Given the description of an element on the screen output the (x, y) to click on. 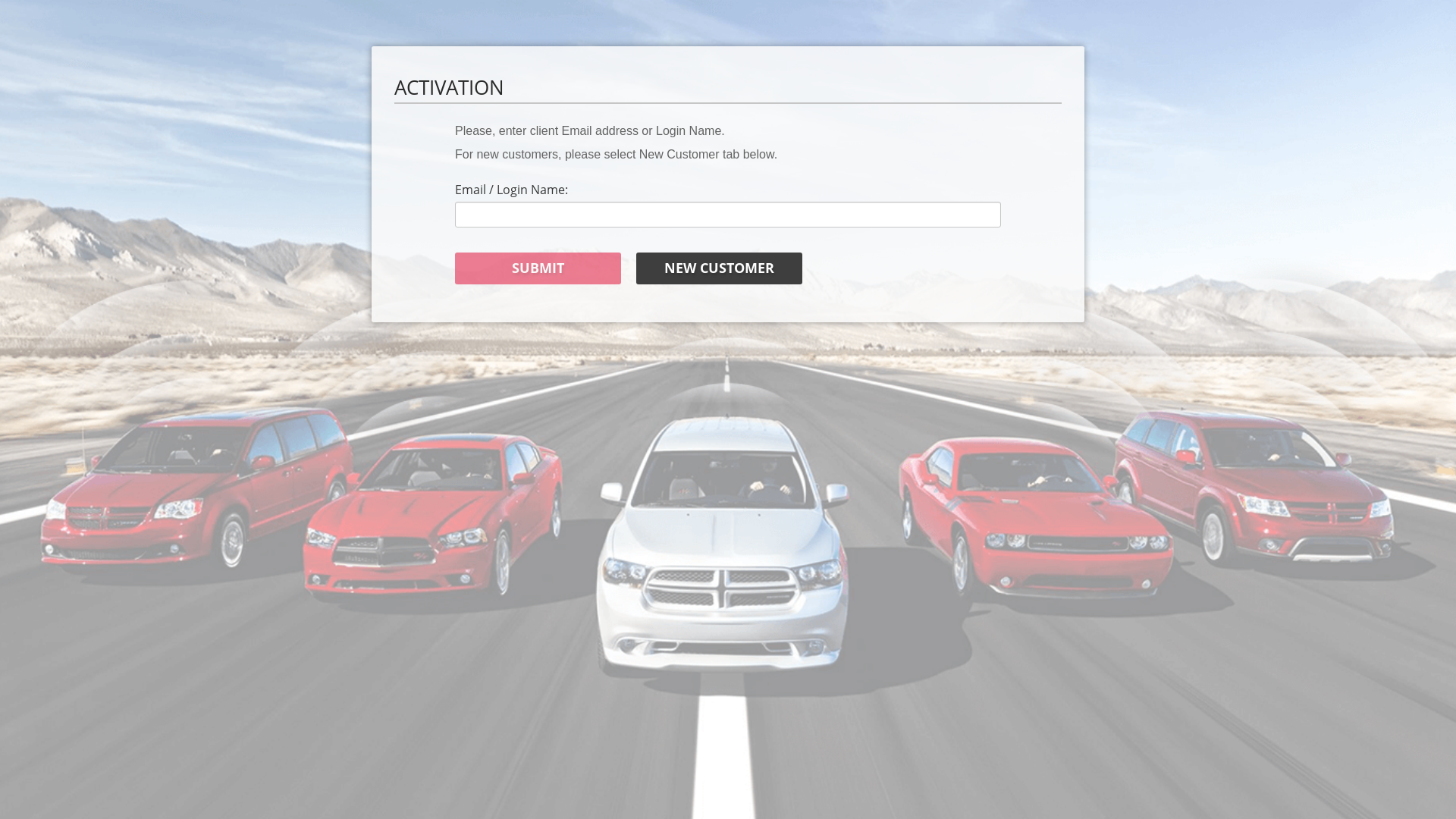
SUBMIT Element type: text (538, 268)
NEW CUSTOMER Element type: text (719, 268)
